Given the description of an element on the screen output the (x, y) to click on. 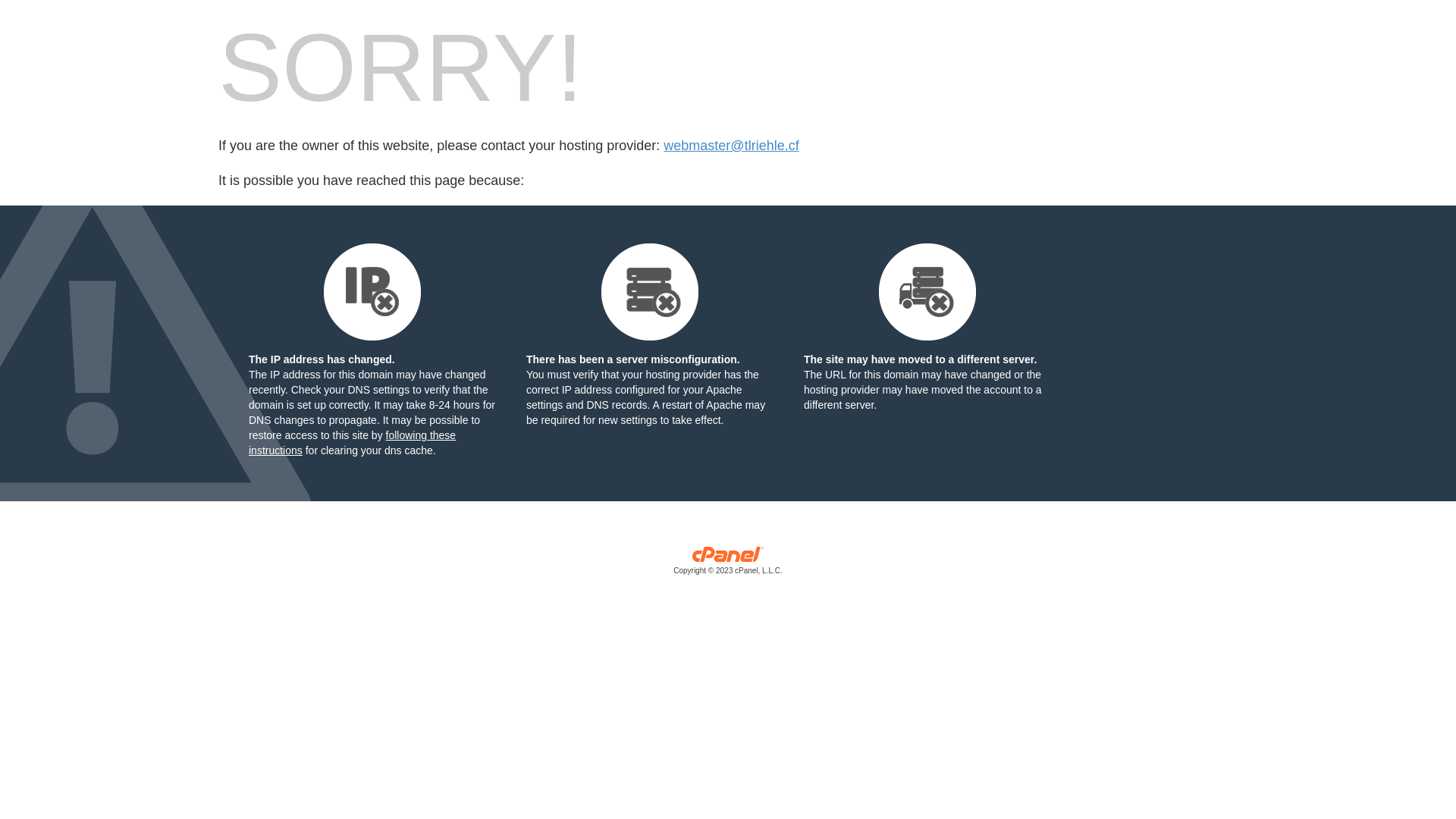
webmaster@tlriehle.cf Element type: text (730, 145)
following these instructions Element type: text (351, 442)
